Given the description of an element on the screen output the (x, y) to click on. 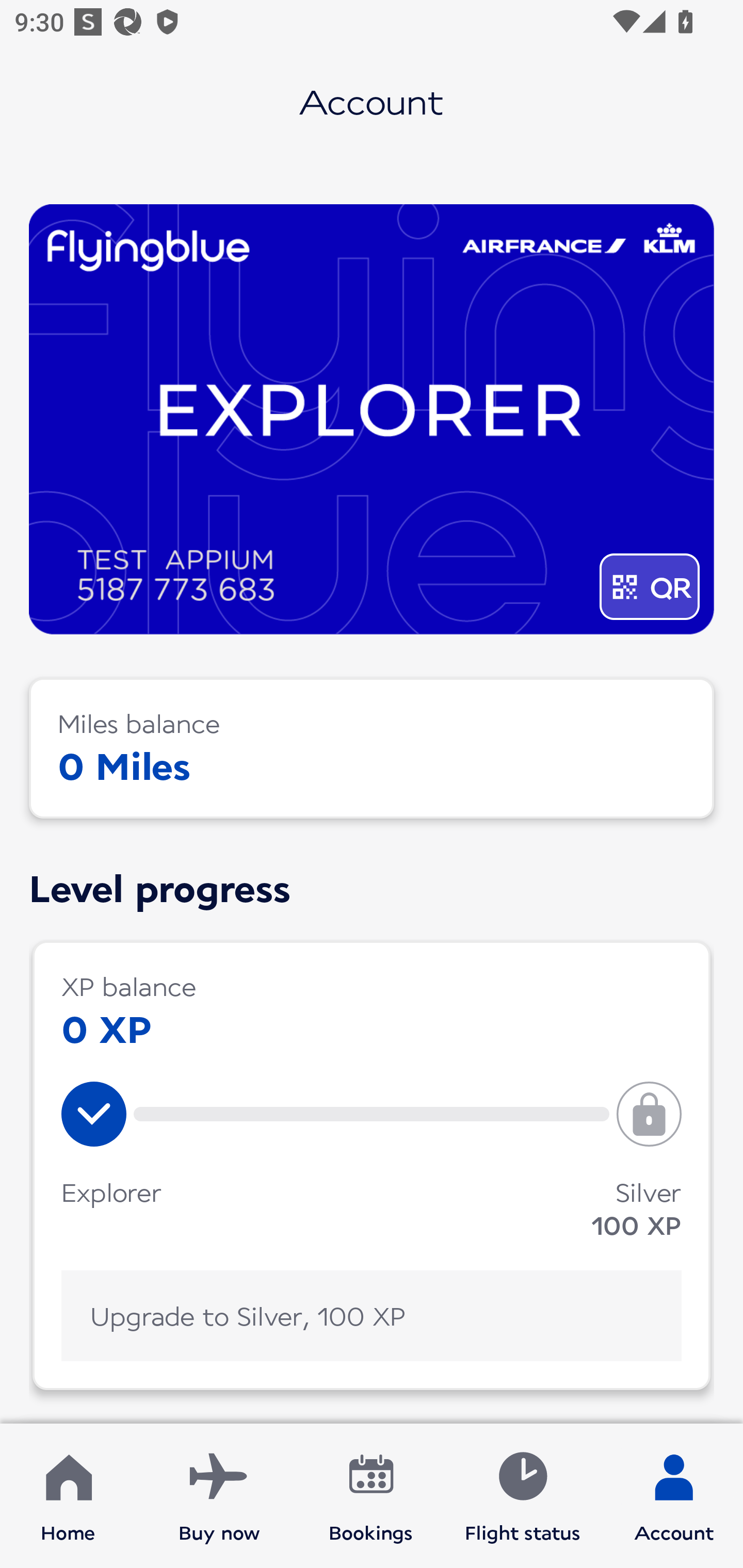
Miles balance 0 Miles (371, 747)
Home (68, 1495)
Buy now (219, 1495)
Bookings (370, 1495)
Flight status (522, 1495)
